Given the description of an element on the screen output the (x, y) to click on. 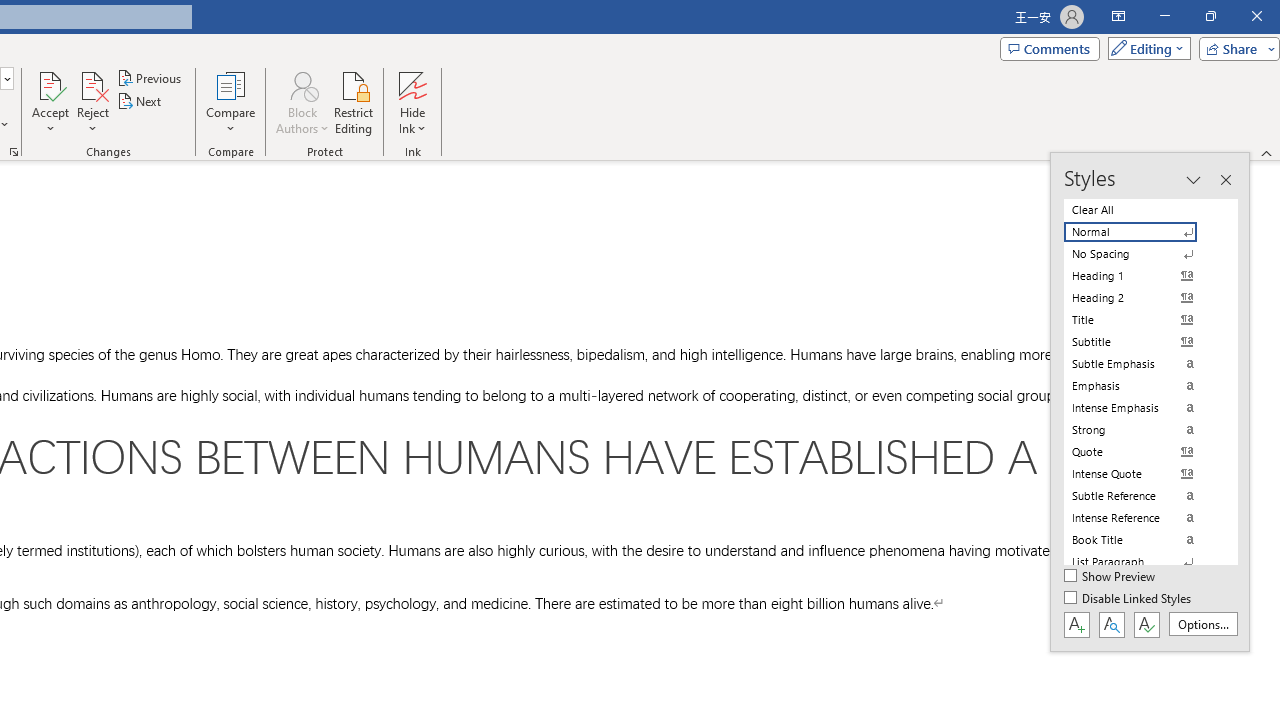
Subtle Emphasis (1142, 363)
Clear All (1142, 209)
Book Title (1142, 539)
